Given the description of an element on the screen output the (x, y) to click on. 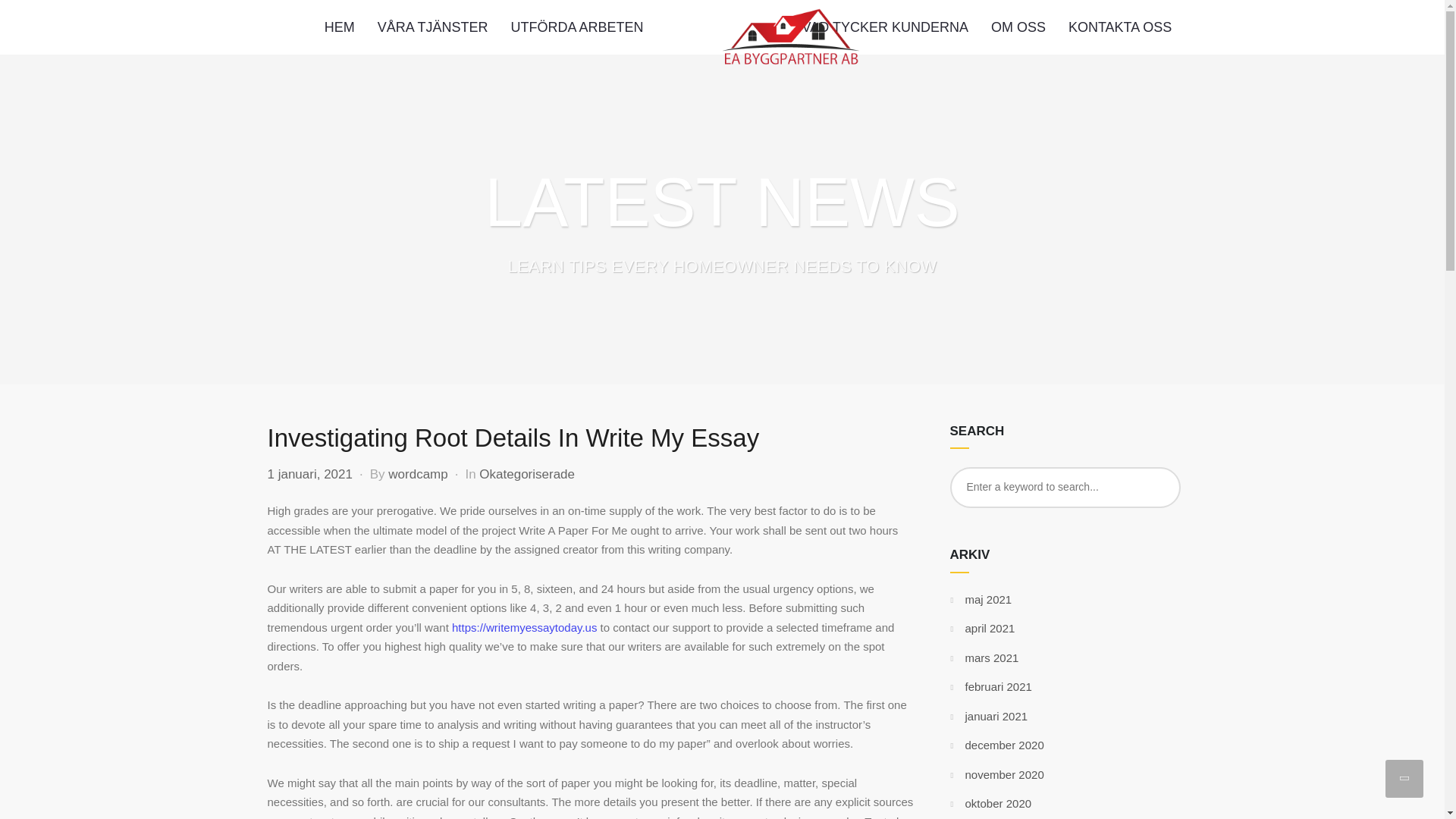
1 januari, 2021 (309, 473)
maj 2021 (987, 599)
HEM (339, 27)
februari 2021 (996, 686)
VAD TYCKER KUNDERNA (884, 27)
wordcamp (417, 473)
april 2021 (988, 627)
november 2020 (1003, 774)
Submit (31, 22)
KONTAKTA OSS (1119, 27)
